Given the description of an element on the screen output the (x, y) to click on. 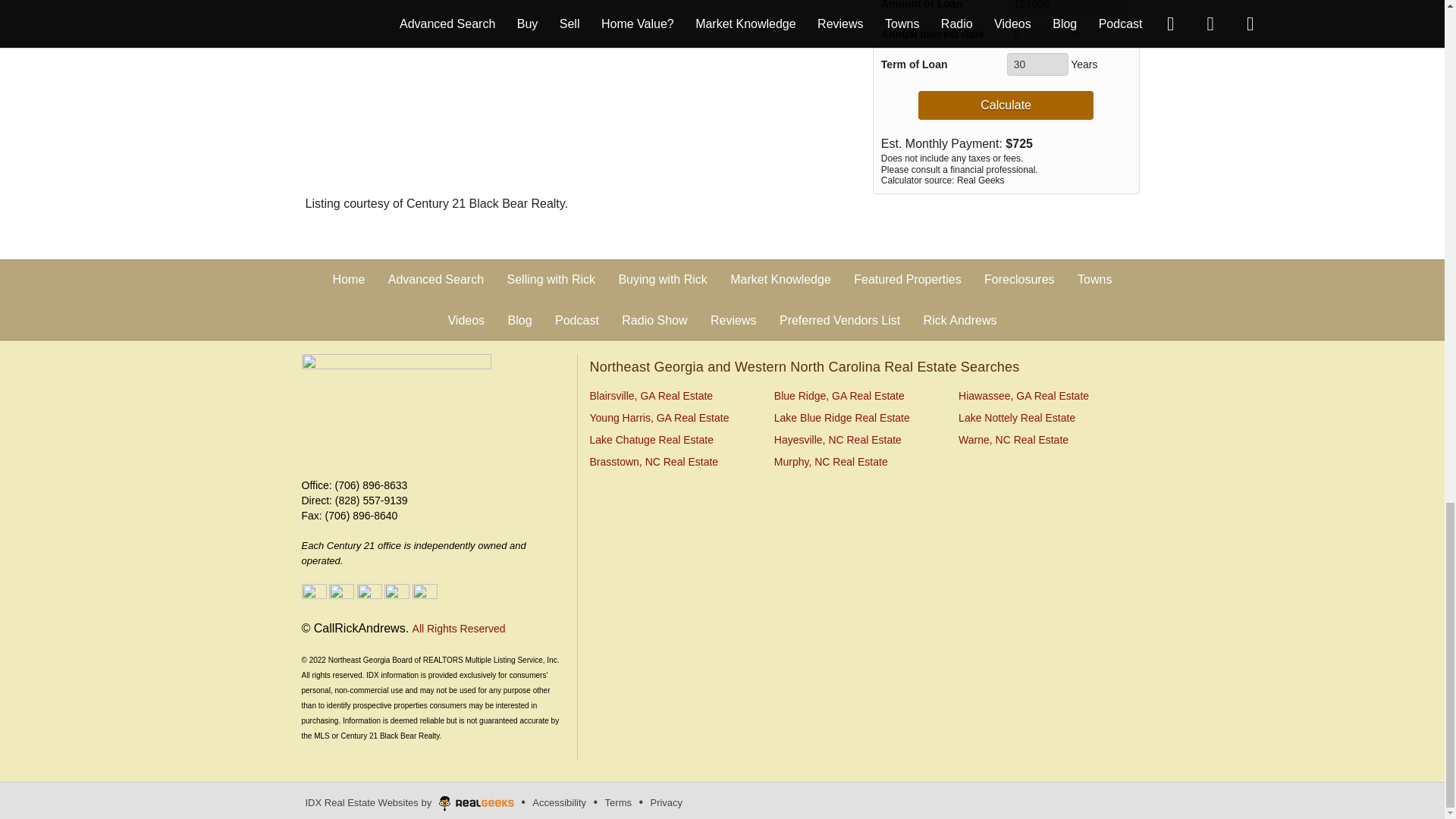
121000 (1068, 7)
30 (1037, 64)
6 (1037, 33)
